Given the description of an element on the screen output the (x, y) to click on. 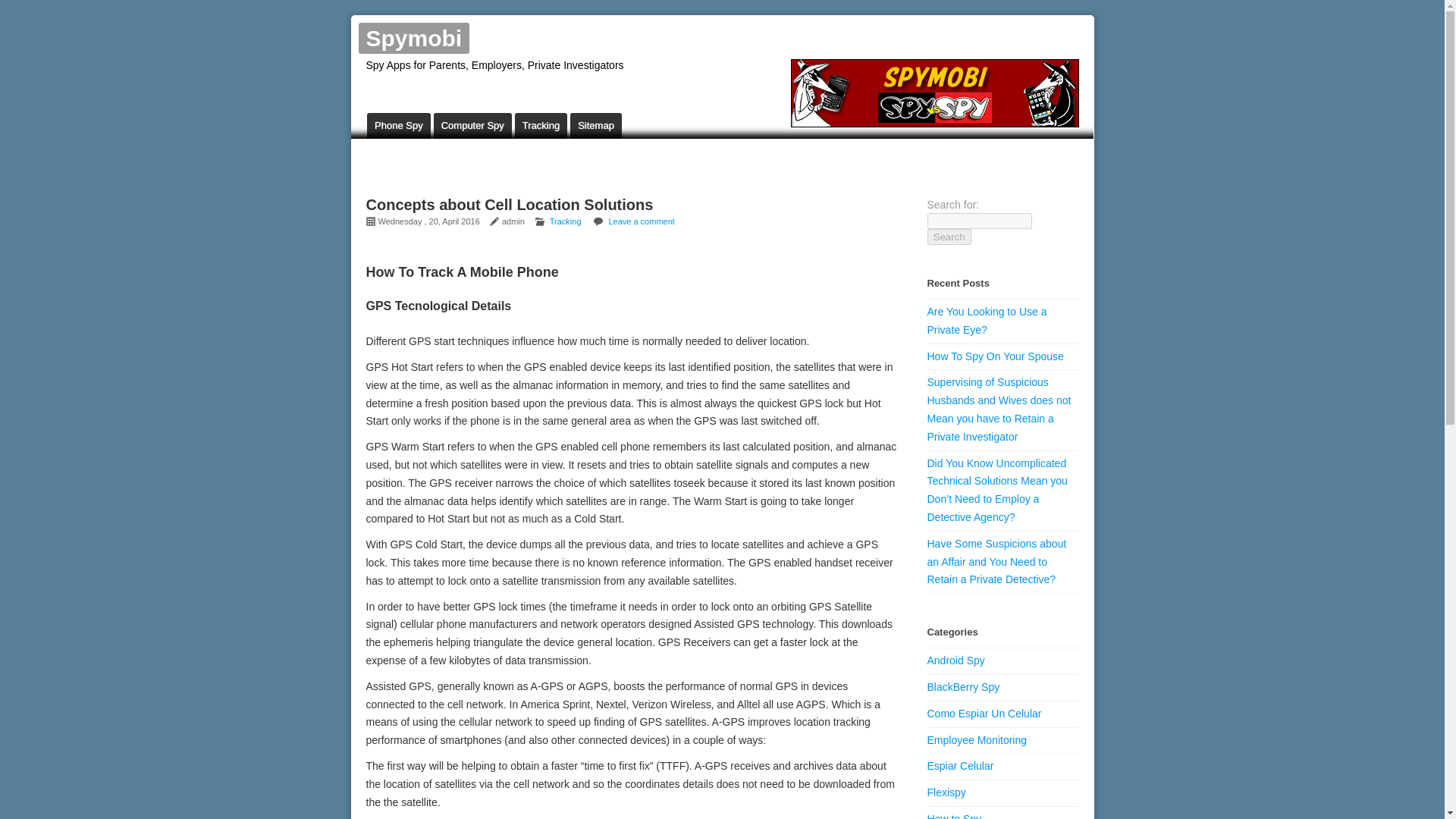
Spymobi (413, 38)
Como Espiar Un Celular (983, 713)
Computer Spy (472, 125)
Tracking (565, 221)
Phone Spy (398, 125)
Sitemap (595, 125)
Tracking (541, 125)
Search (948, 236)
Leave a comment (641, 221)
